Given the description of an element on the screen output the (x, y) to click on. 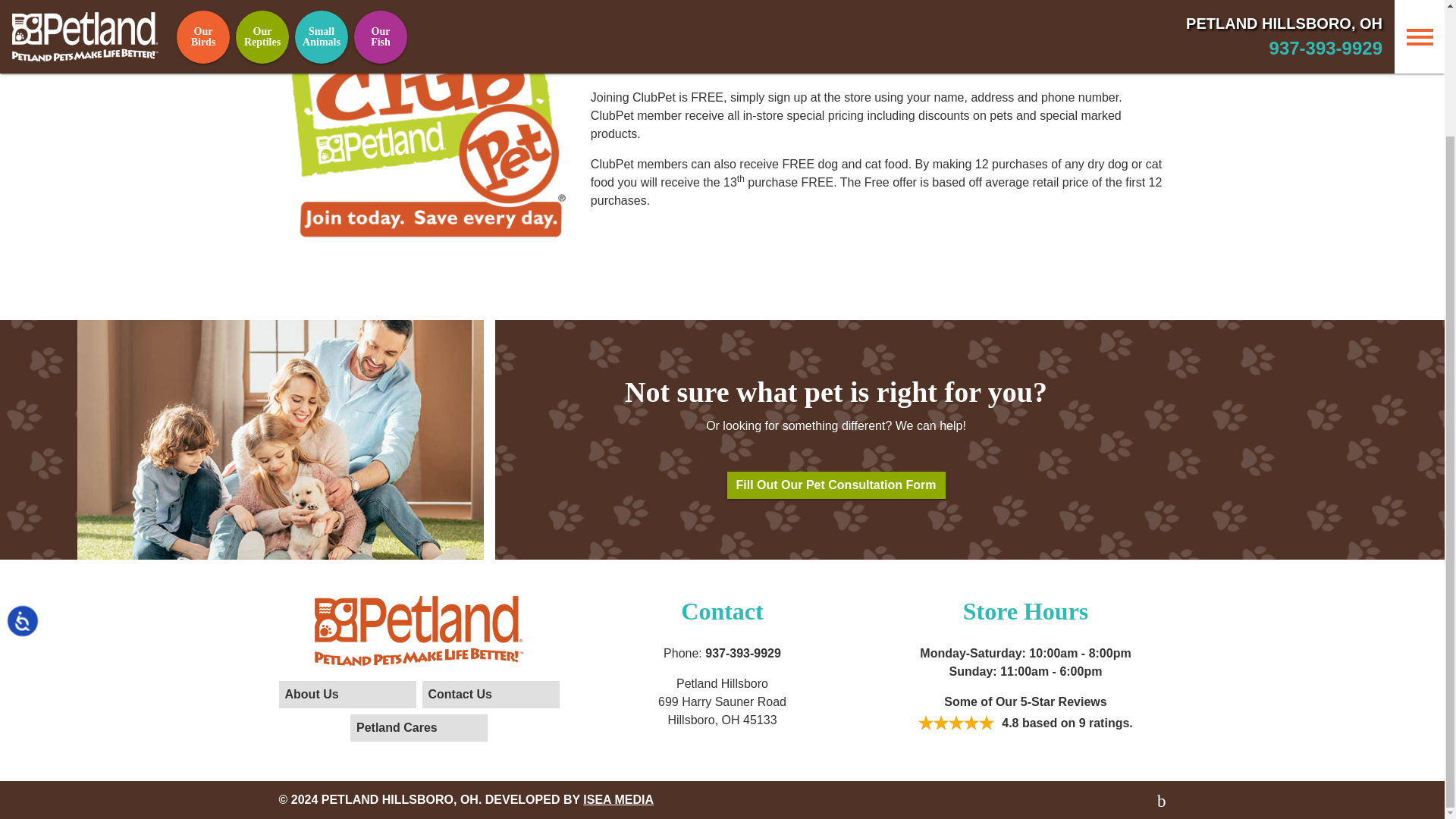
Fill Out Our Pet Consultation Form (835, 484)
Accessibility (39, 484)
